Given the description of an element on the screen output the (x, y) to click on. 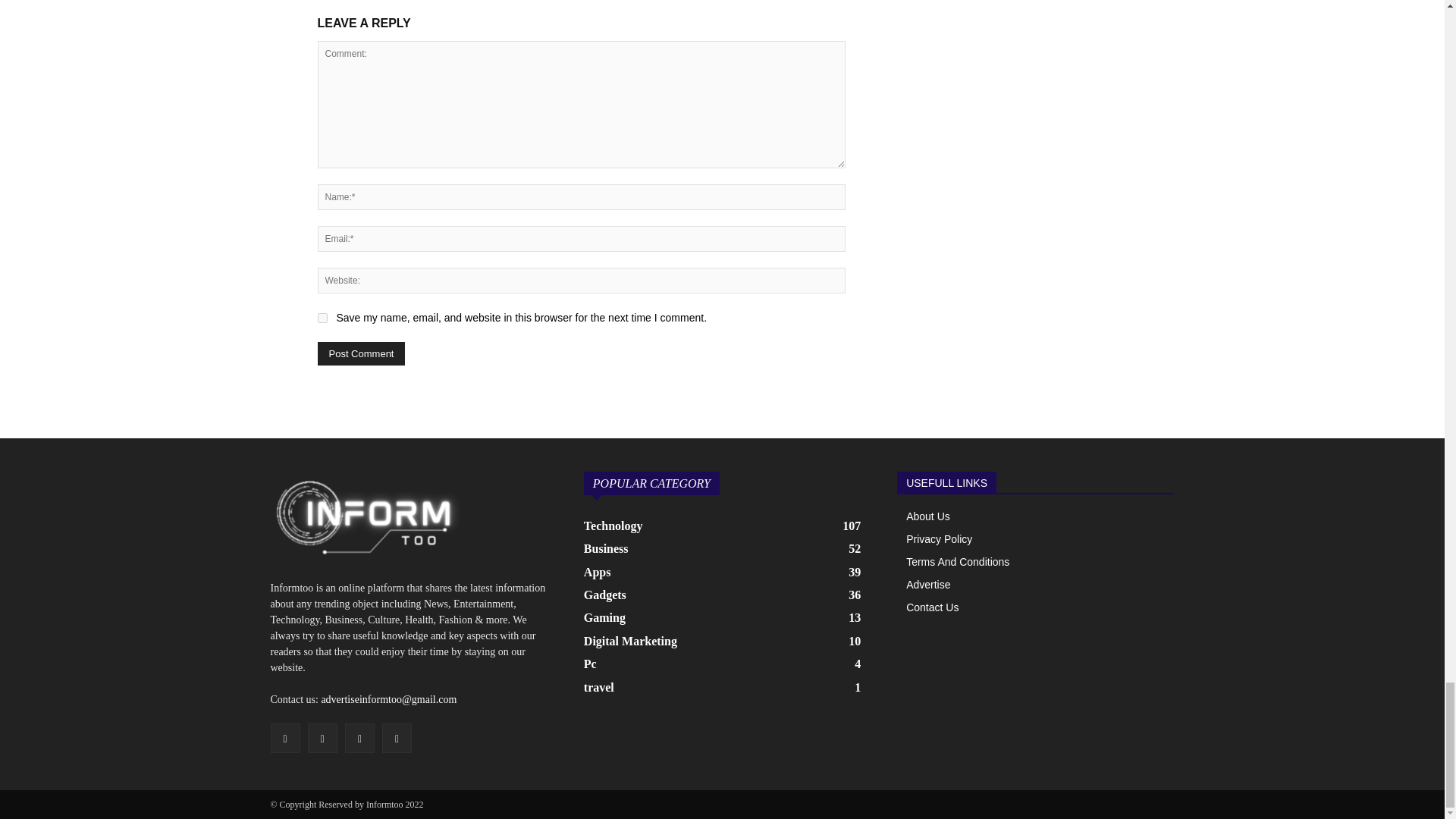
Post Comment (360, 353)
yes (321, 317)
